Given the description of an element on the screen output the (x, y) to click on. 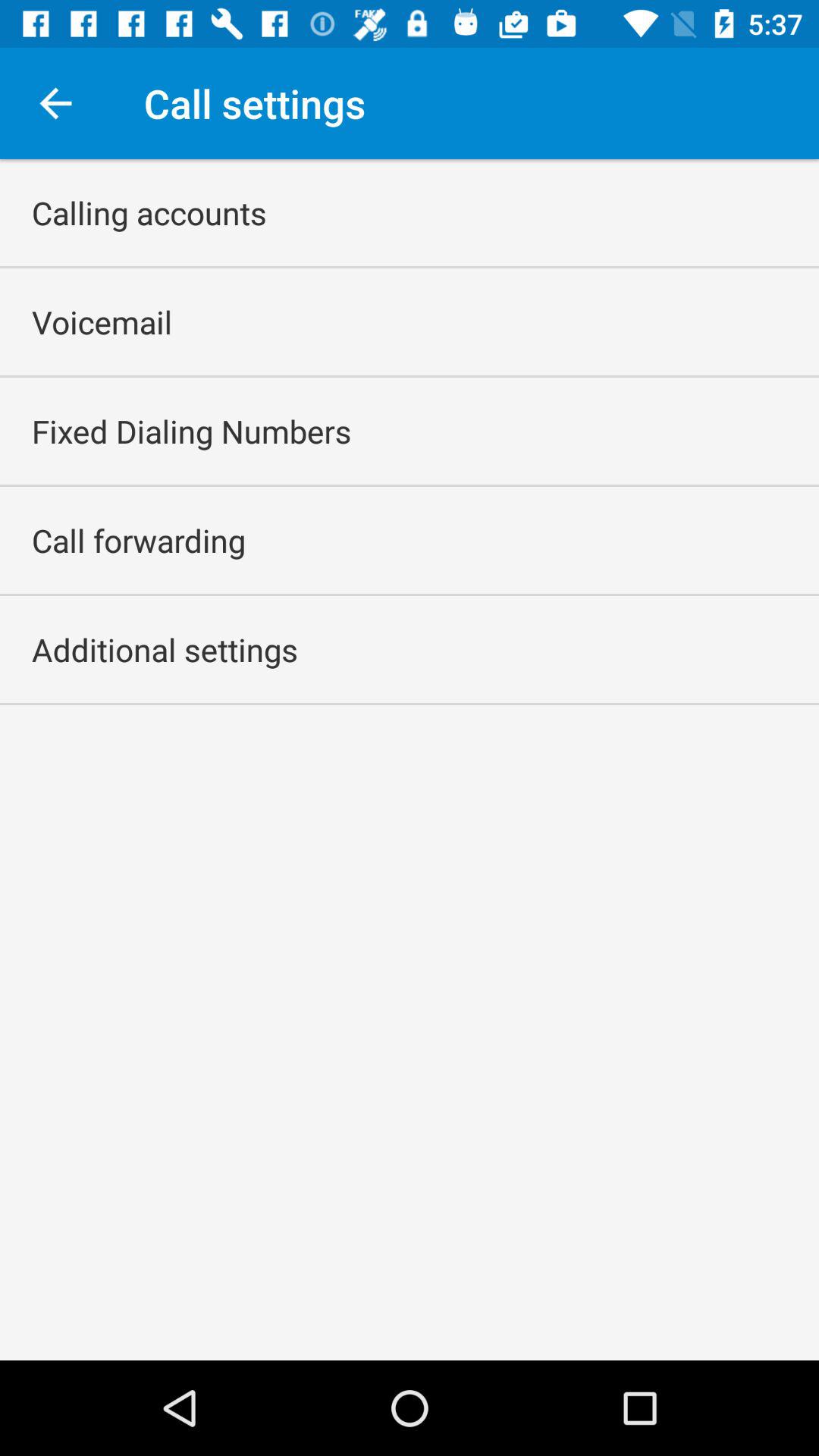
select item below fixed dialing numbers item (138, 539)
